Given the description of an element on the screen output the (x, y) to click on. 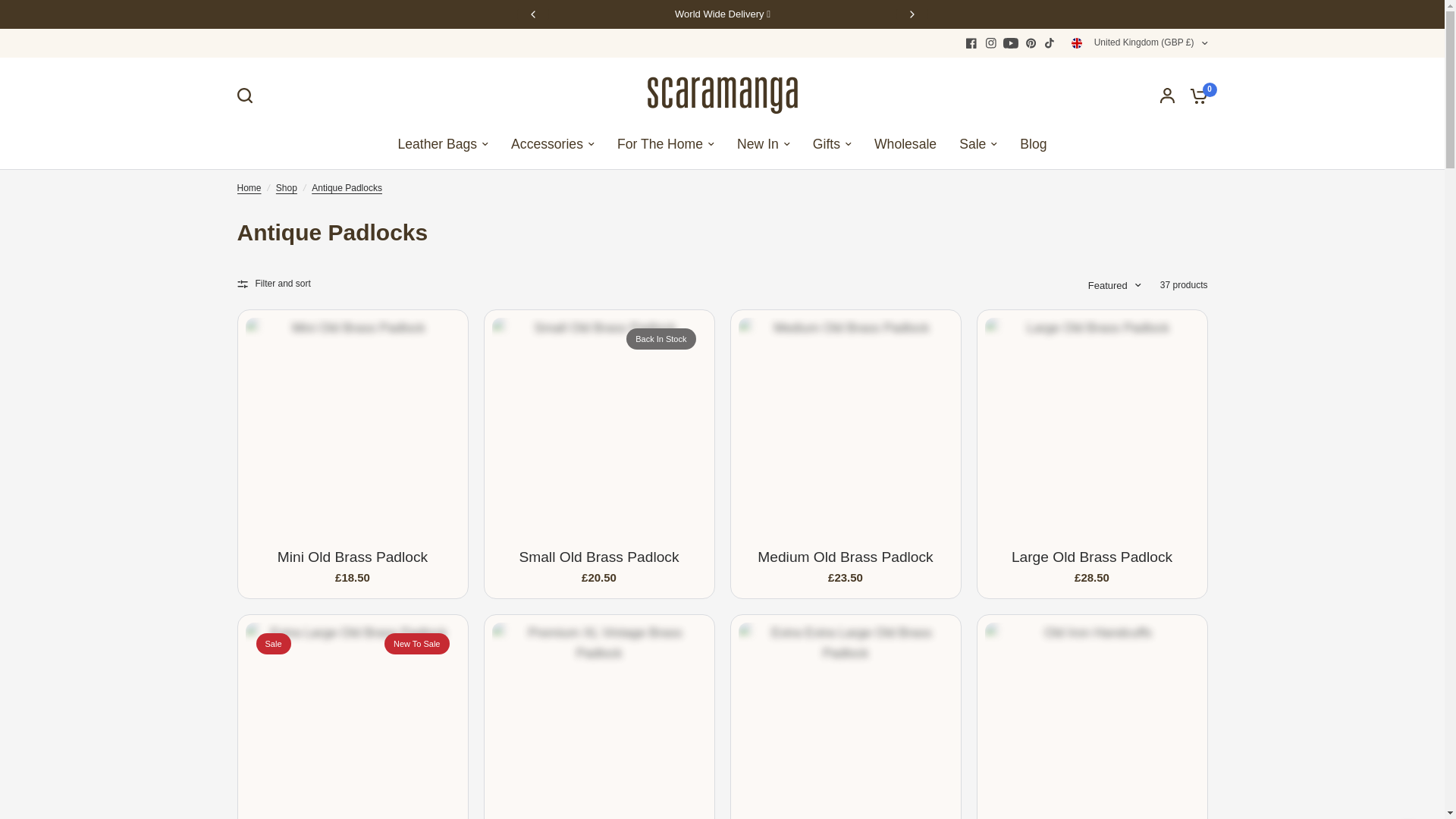
YouTube (1010, 43)
Instagram (991, 43)
Pinterest (1030, 43)
Facebook (970, 43)
TikTok (1050, 43)
